Given the description of an element on the screen output the (x, y) to click on. 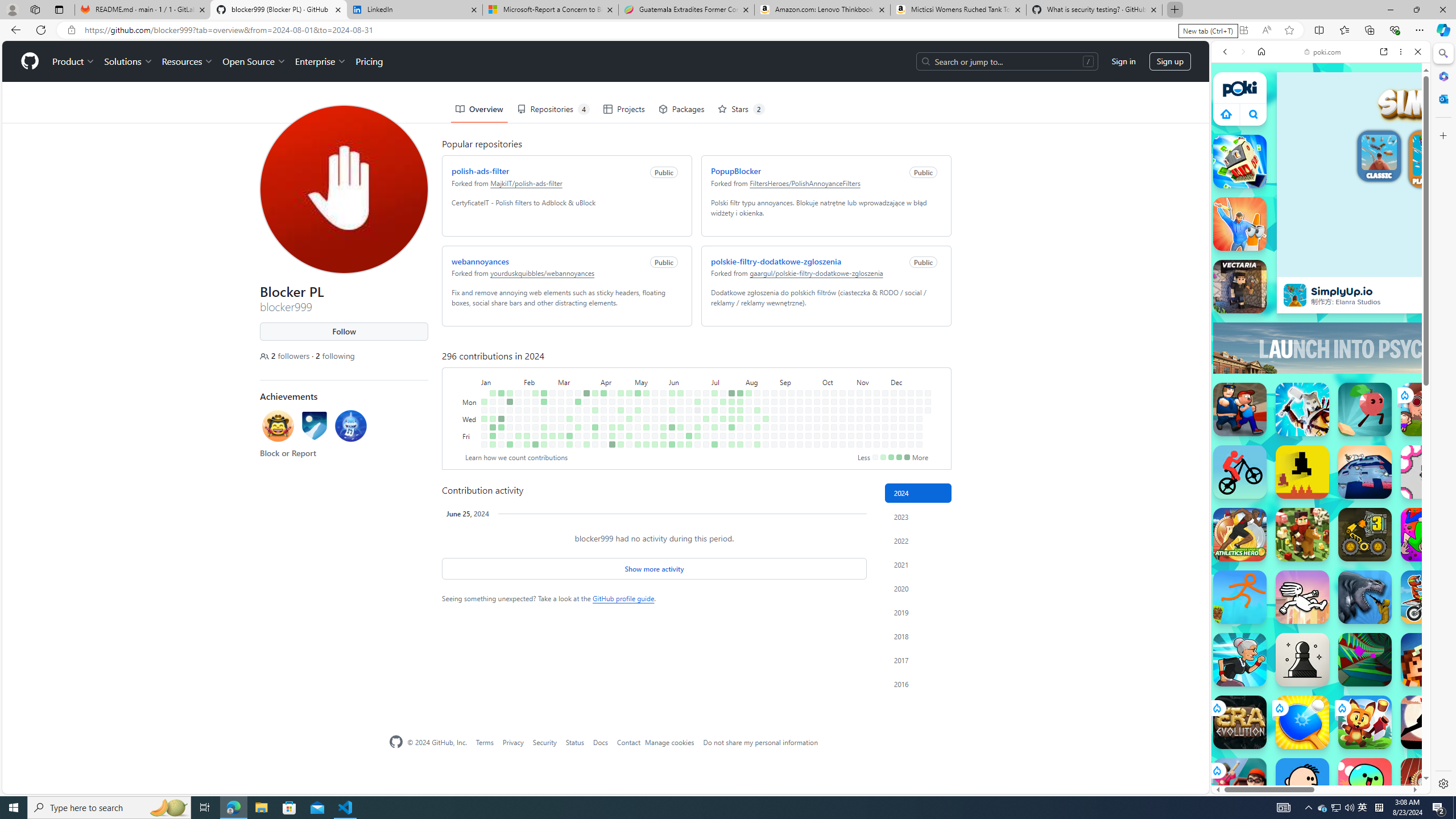
Contact (627, 741)
Up Together Up Together (1364, 409)
No contributions on September 2nd. (783, 401)
Stickman Parkour Skyland (1239, 597)
June (688, 380)
Fox Island Builder Fox Island Builder (1364, 722)
No contributions on May 24th. (655, 435)
Block or Report (287, 452)
No contributions on May 8th. (637, 418)
No contributions on June 19th. (688, 418)
No contributions on August 23rd. (765, 435)
No contributions on May 26th. (663, 392)
Escape From School Escape From School (1239, 409)
